Given the description of an element on the screen output the (x, y) to click on. 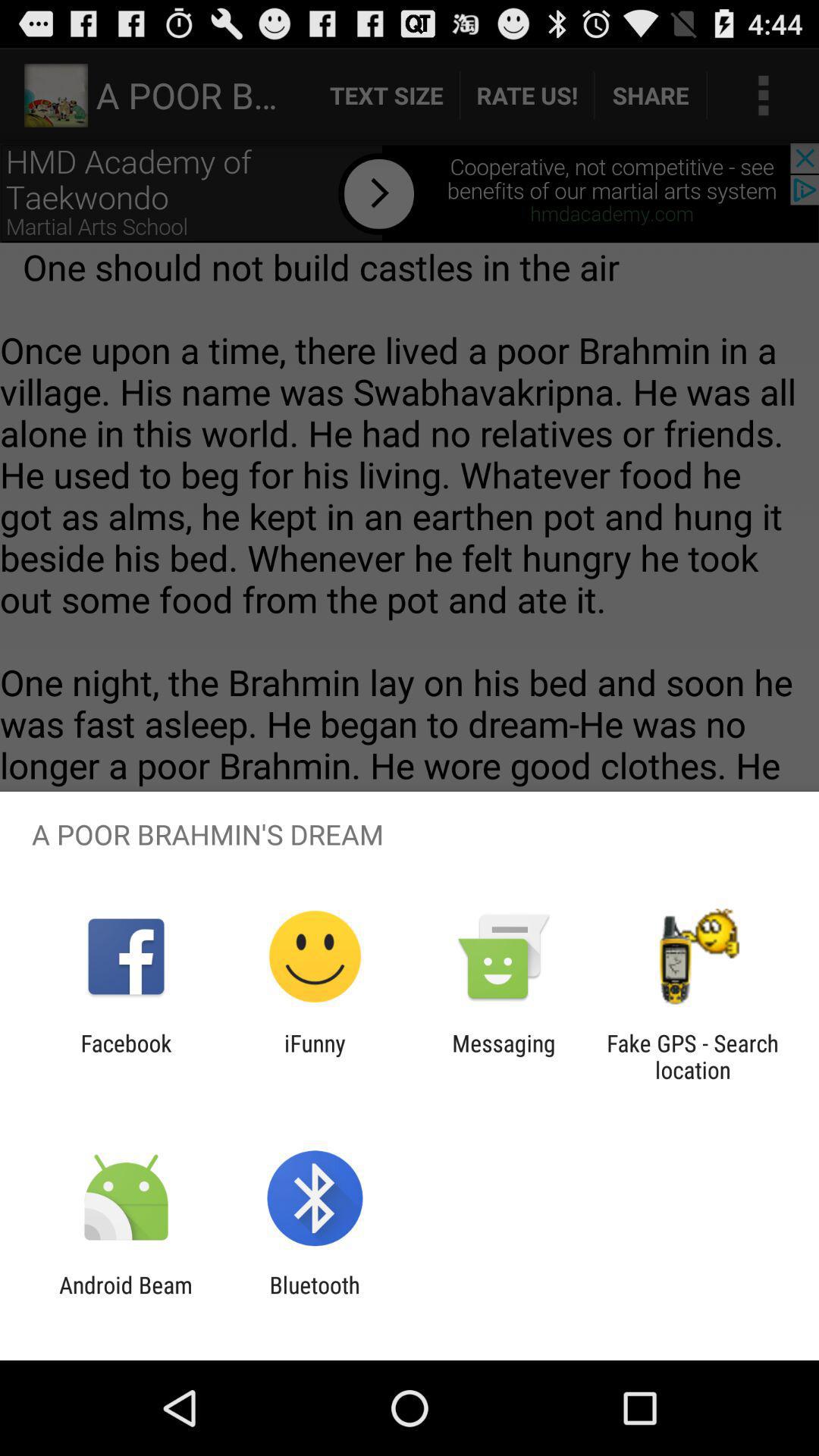
turn off facebook item (125, 1056)
